Given the description of an element on the screen output the (x, y) to click on. 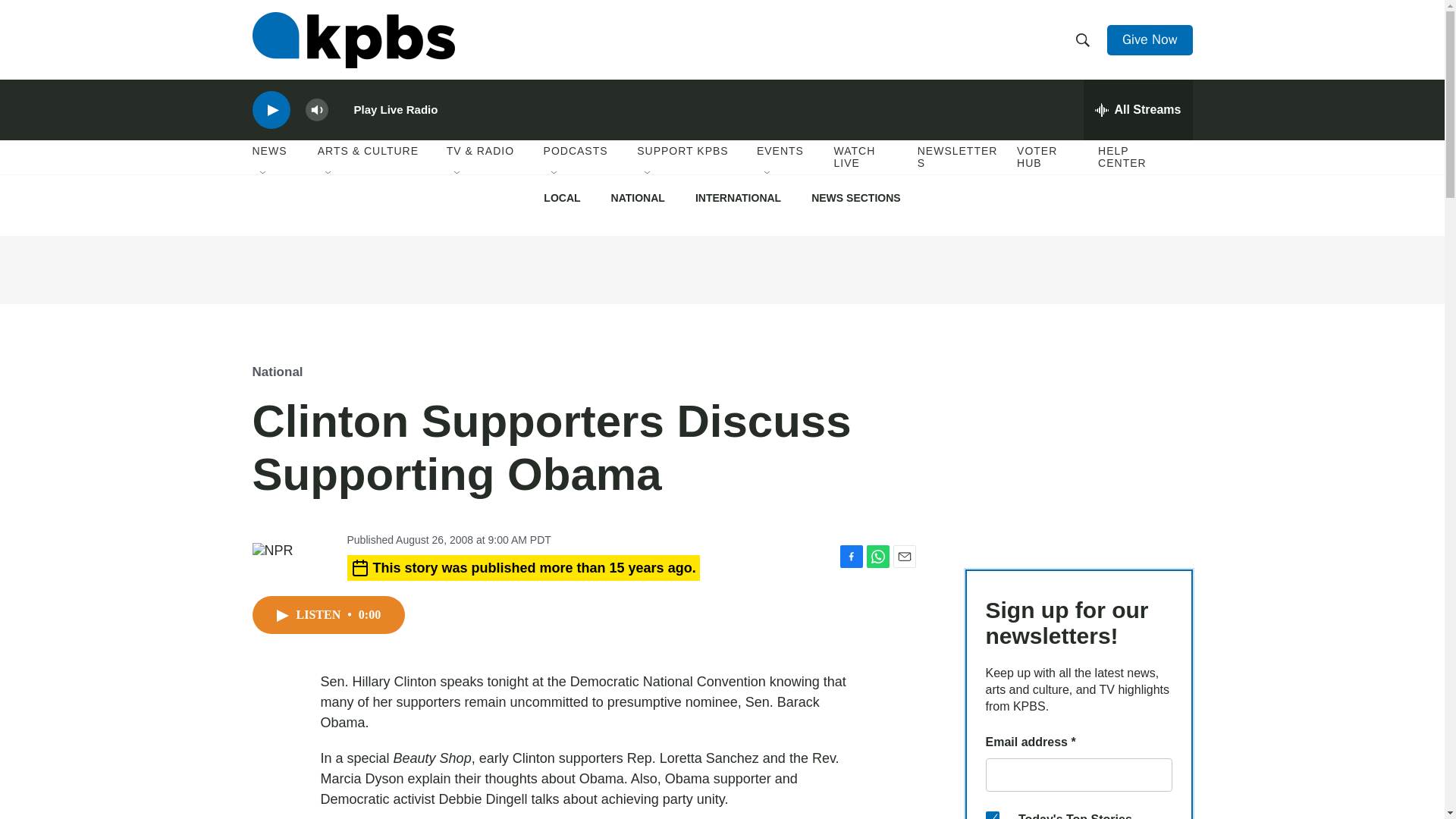
4 (991, 815)
